Given the description of an element on the screen output the (x, y) to click on. 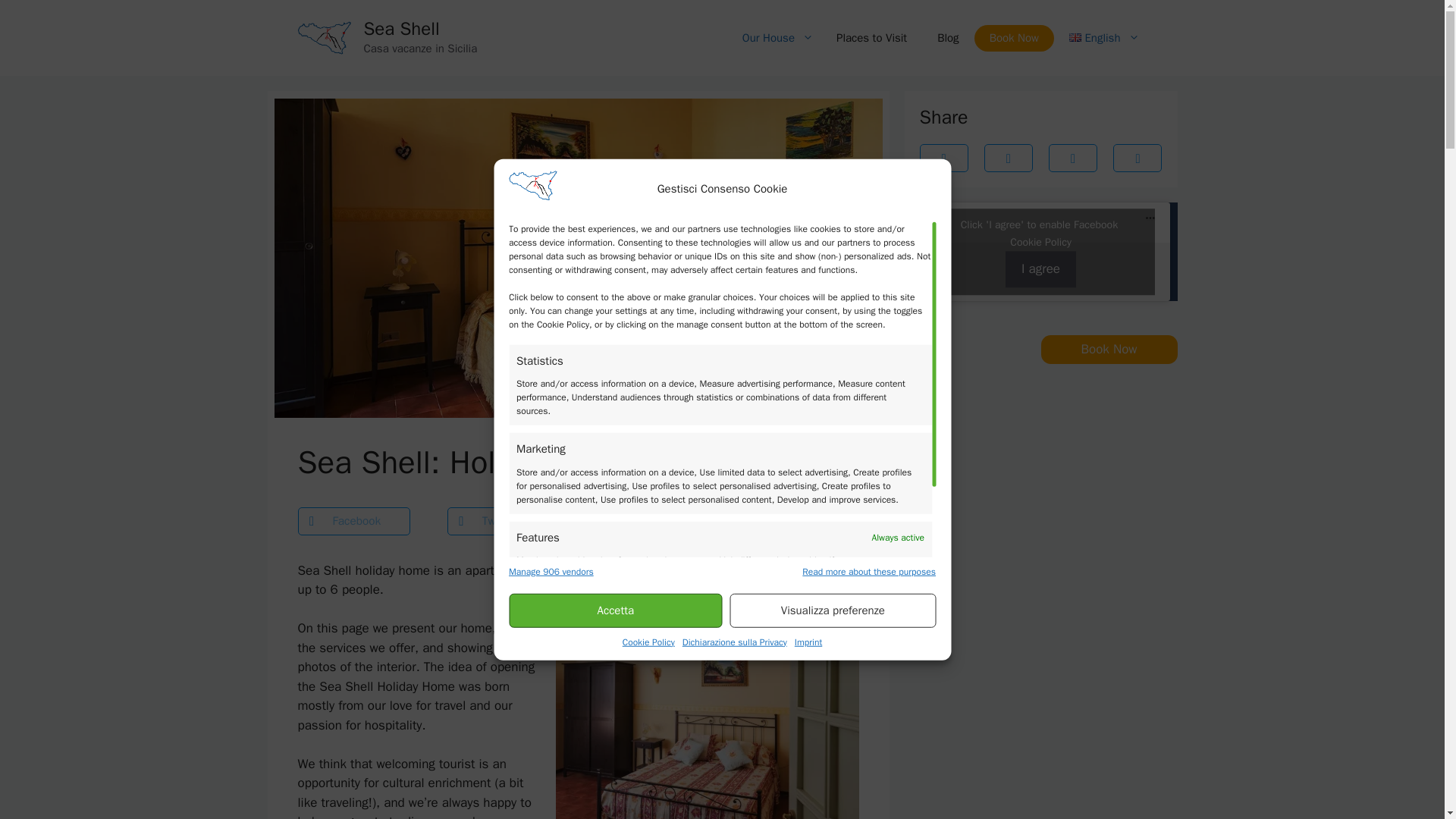
Places to Visit (871, 37)
Twitter (503, 520)
Blog (947, 37)
Imprint (808, 641)
Accetta (615, 609)
Cookie Policy (649, 641)
Facebook (353, 520)
Book Now (1014, 37)
Whatsapp (651, 520)
Sea Shell (401, 28)
Manage 906 vendors (551, 571)
English (1100, 37)
Dichiarazione sulla Privacy (734, 641)
Visualizza preferenze (833, 609)
Read more about these purposes (869, 571)
